Given the description of an element on the screen output the (x, y) to click on. 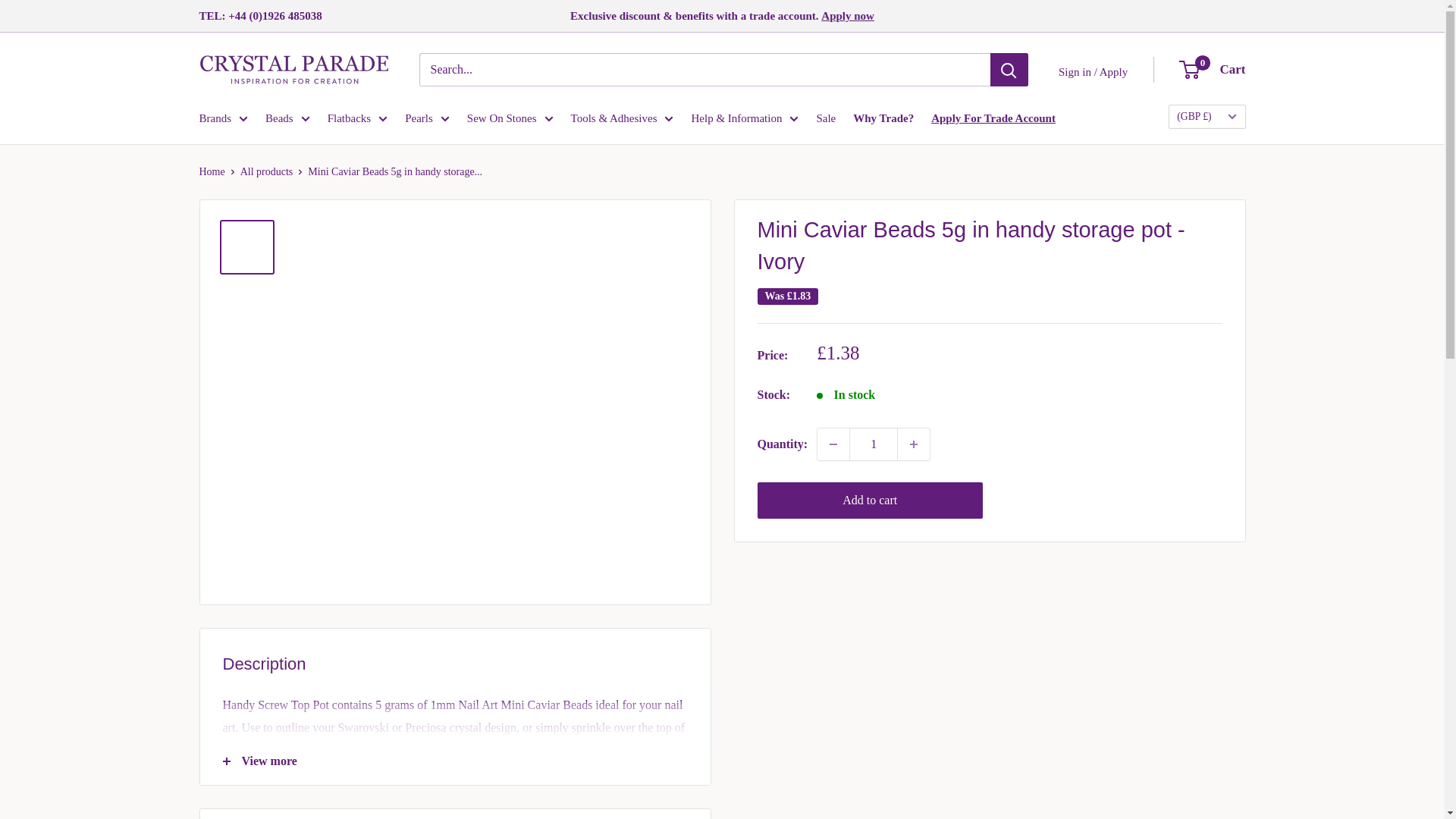
Decrease quantity by 1 (832, 444)
1 (873, 444)
Apply now (848, 15)
Increase quantity by 1 (914, 444)
